Given the description of an element on the screen output the (x, y) to click on. 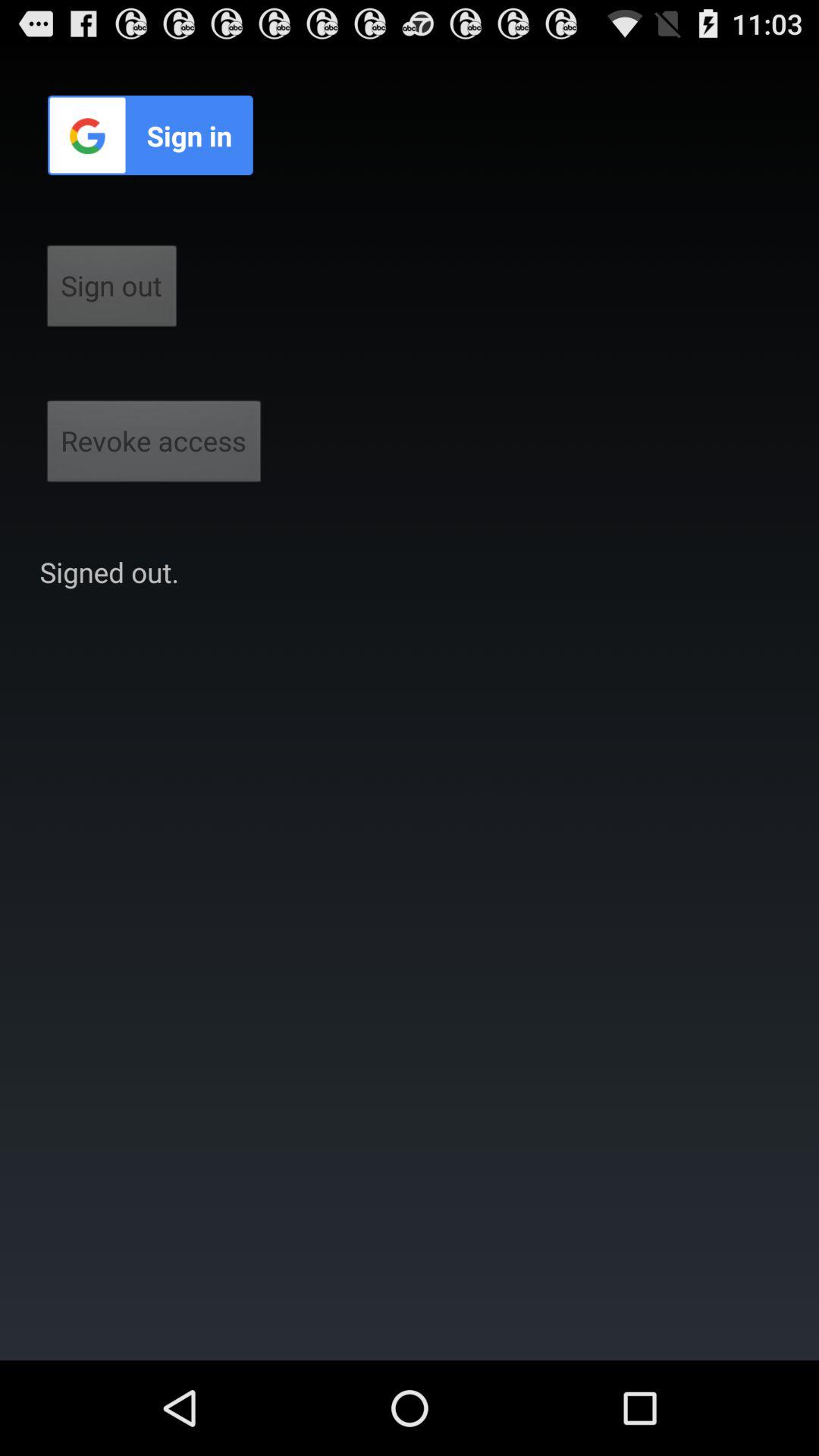
turn off the item below the sign in item (111, 290)
